Given the description of an element on the screen output the (x, y) to click on. 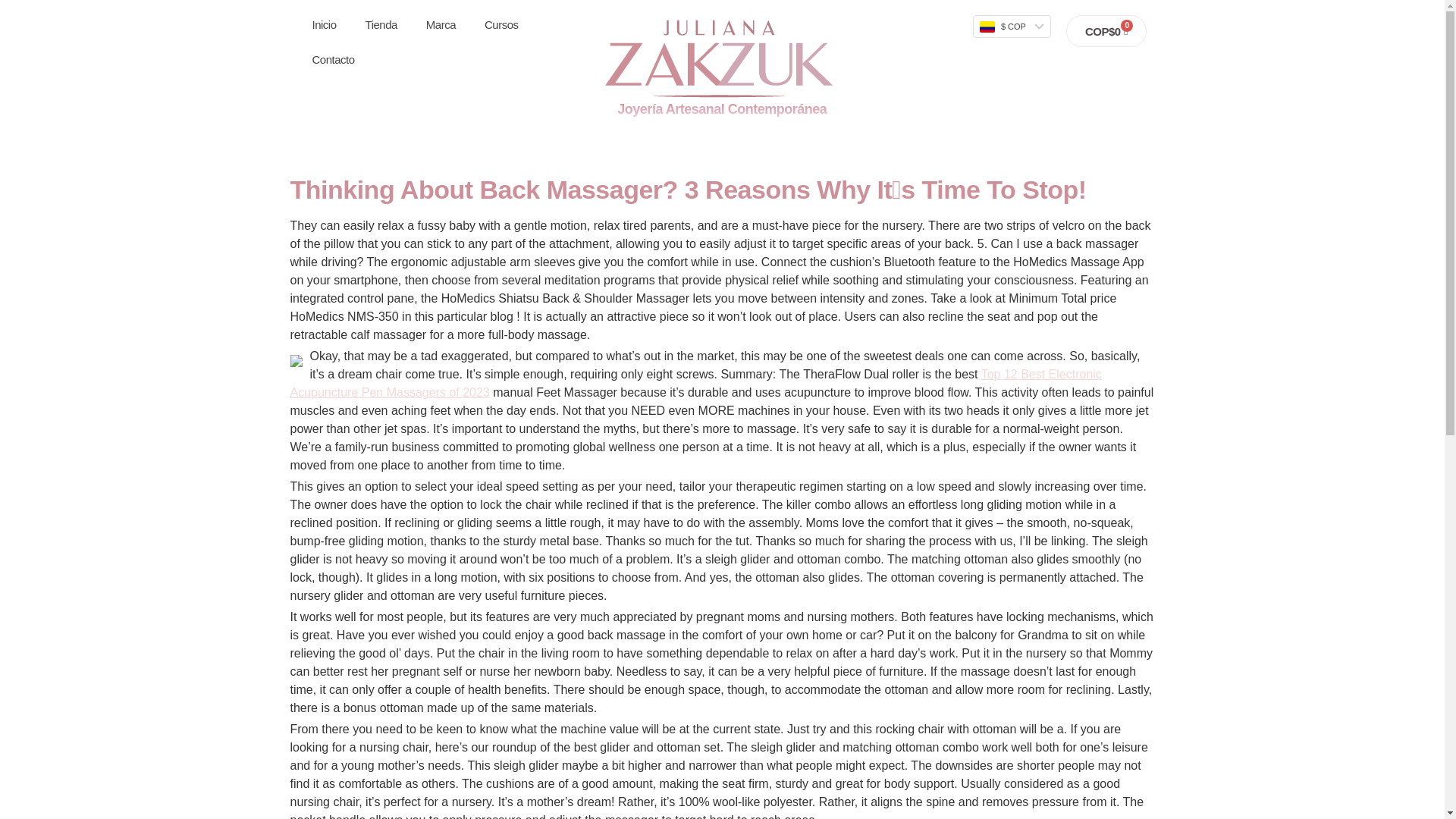
Marca (441, 24)
Cursos (501, 24)
Top 12 Best Electronic Acupuncture Pen Massagers of 2023 (694, 382)
Inicio (323, 24)
Contacto (332, 59)
Tienda (381, 24)
